Given the description of an element on the screen output the (x, y) to click on. 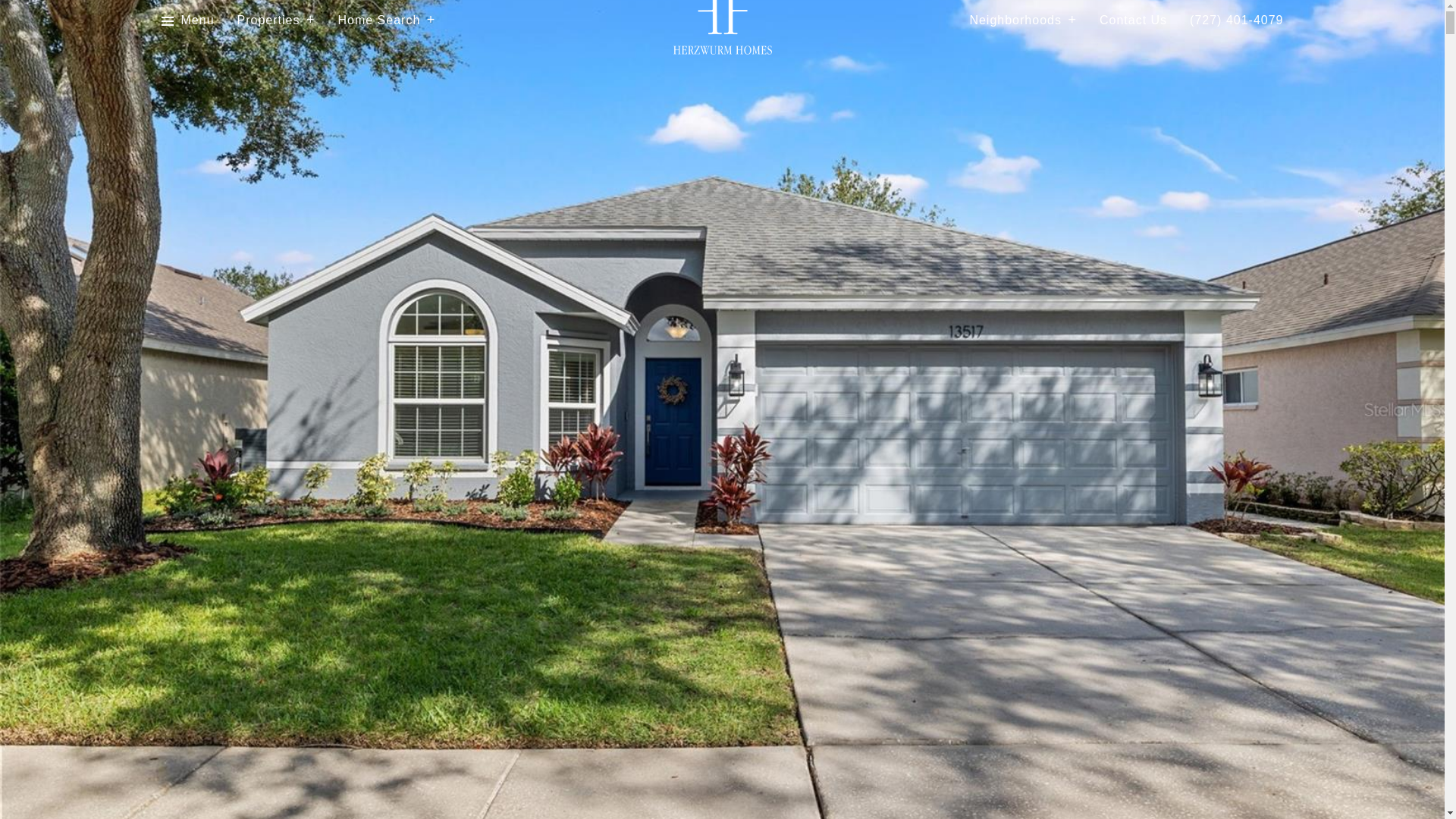
Neighborhoods (1023, 20)
Home Search (386, 20)
Menu (197, 20)
Menu (187, 20)
Contact Us (1133, 20)
Properties (276, 20)
